Given the description of an element on the screen output the (x, y) to click on. 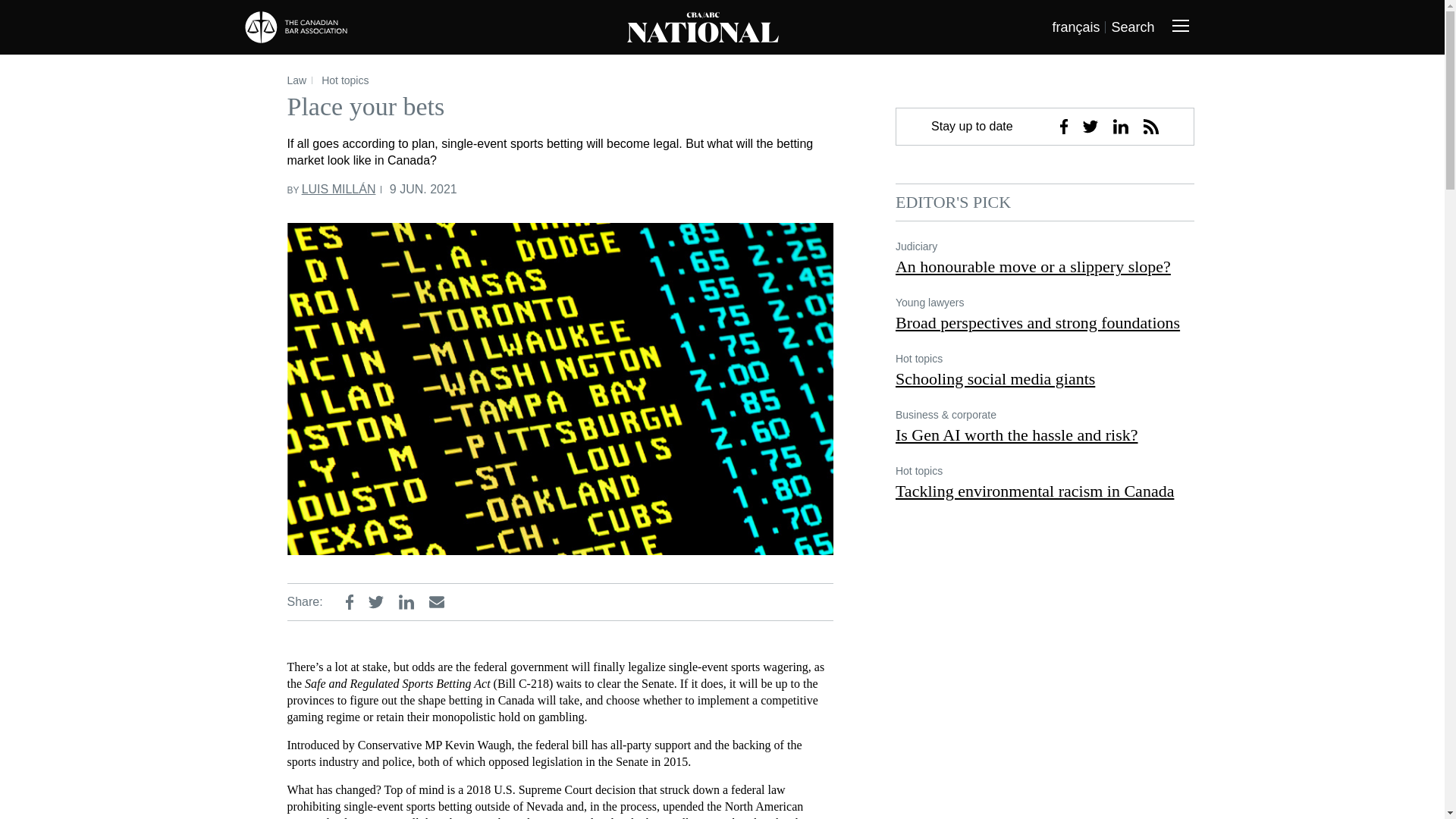
Skip to Content (48, 14)
Search (1132, 27)
Toggle Navigation (1180, 27)
